Given the description of an element on the screen output the (x, y) to click on. 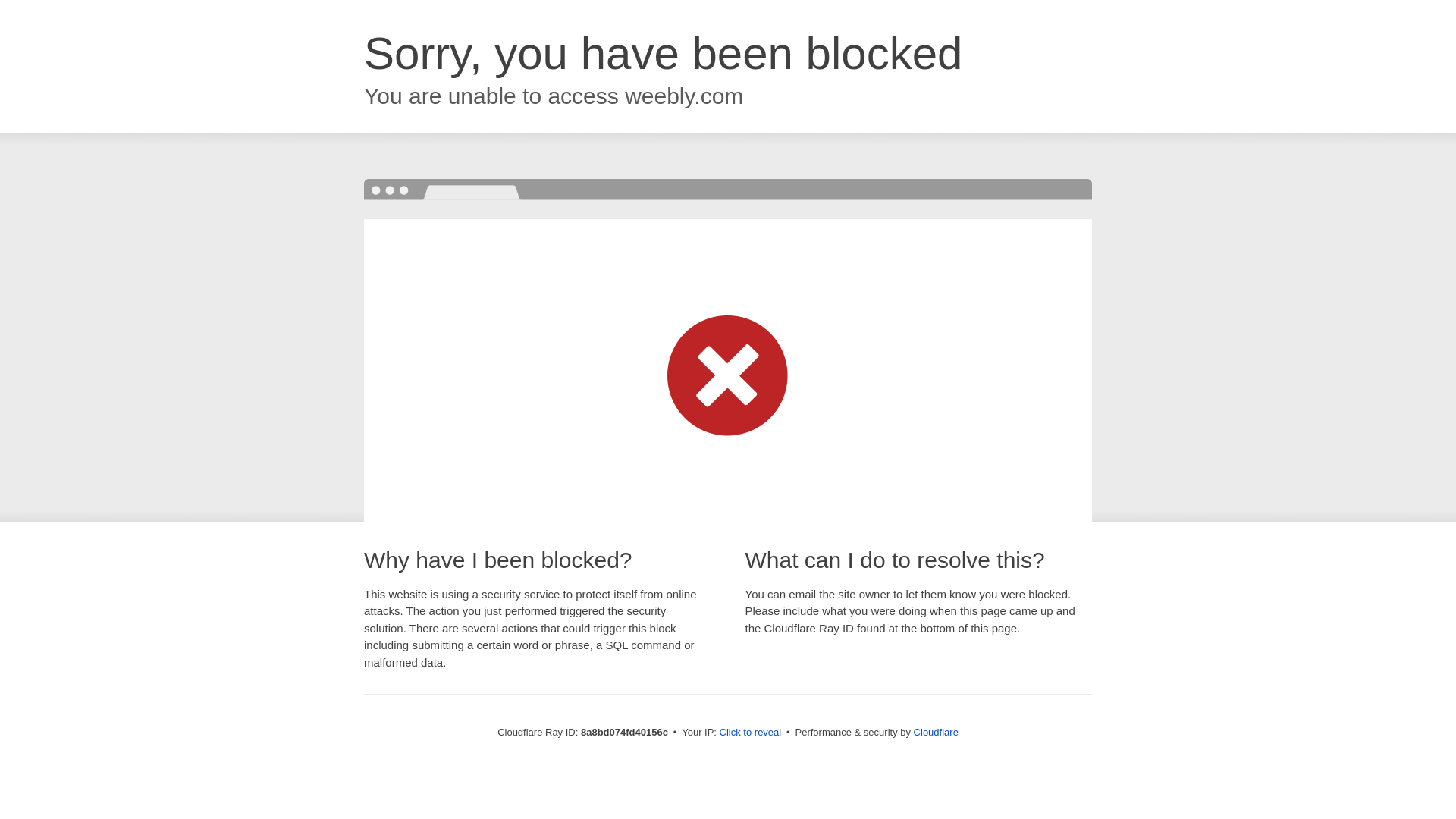
Click to reveal (750, 732)
Cloudflare (936, 731)
